Given the description of an element on the screen output the (x, y) to click on. 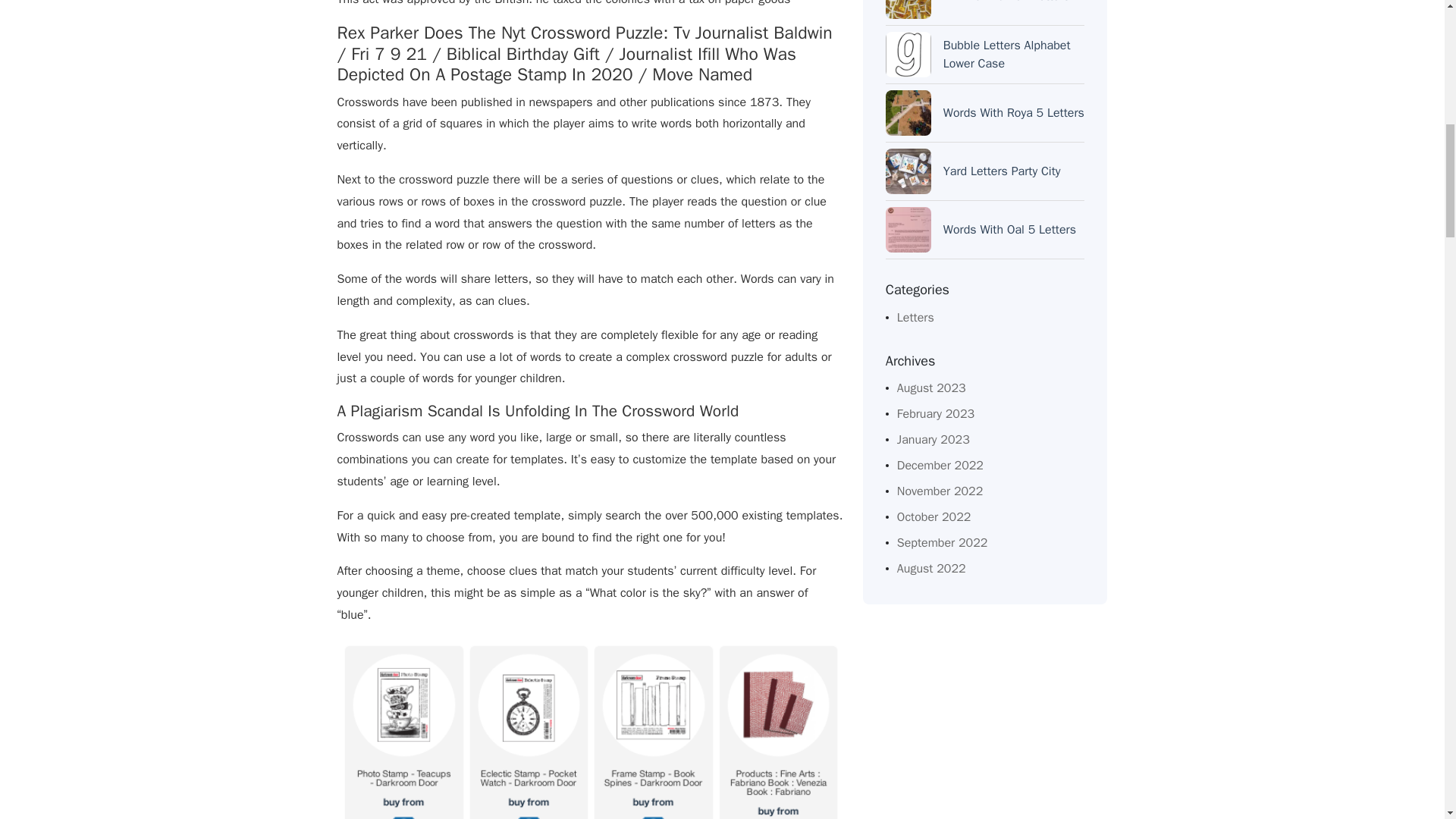
Letters On A Stamp Crossword Clue (590, 728)
